Given the description of an element on the screen output the (x, y) to click on. 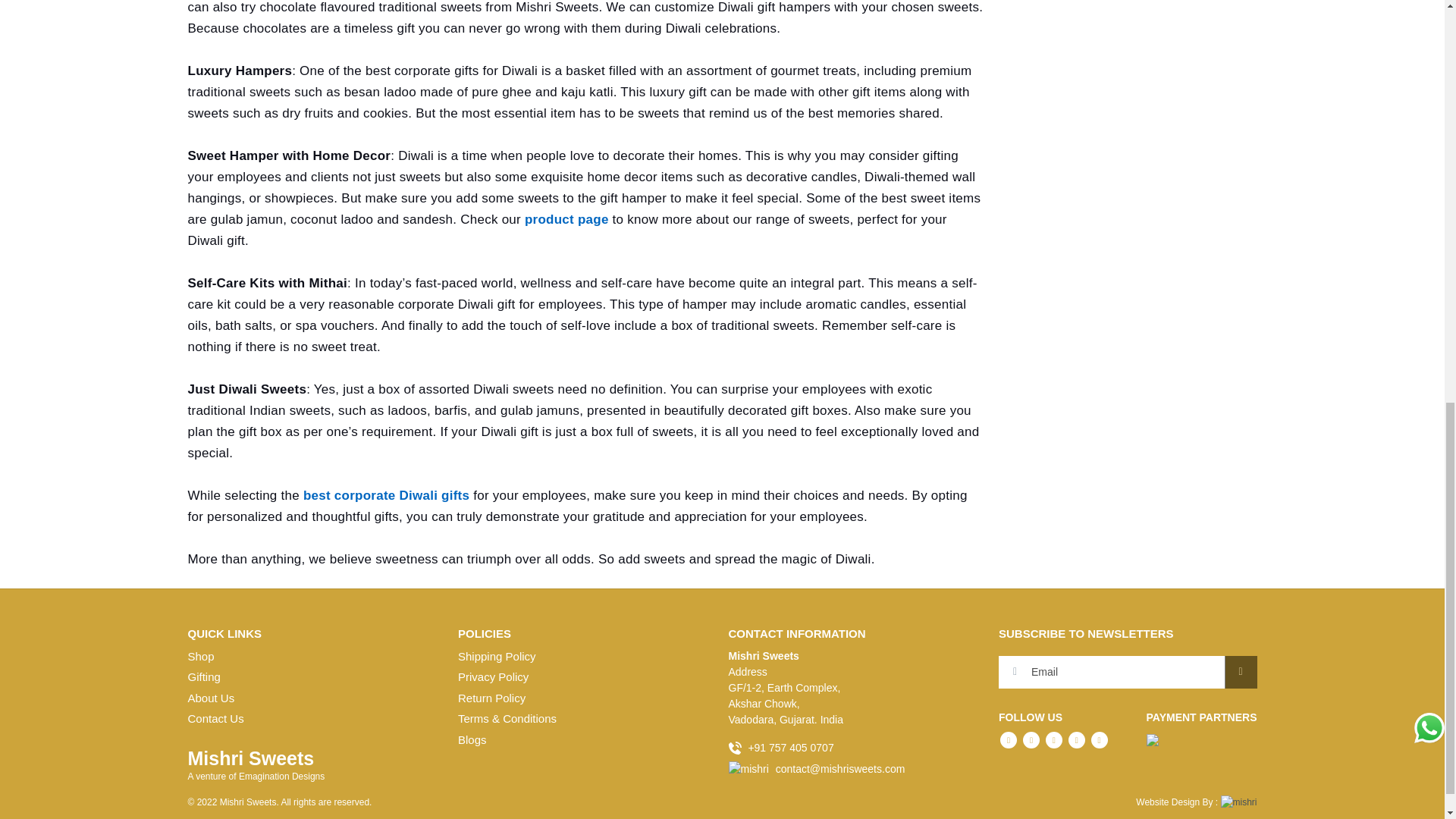
Submit (1240, 672)
Contact Us (215, 717)
Gifting (204, 676)
best corporate Diwali gifts (387, 495)
About Us (210, 697)
product page (566, 219)
Shop (200, 656)
